Given the description of an element on the screen output the (x, y) to click on. 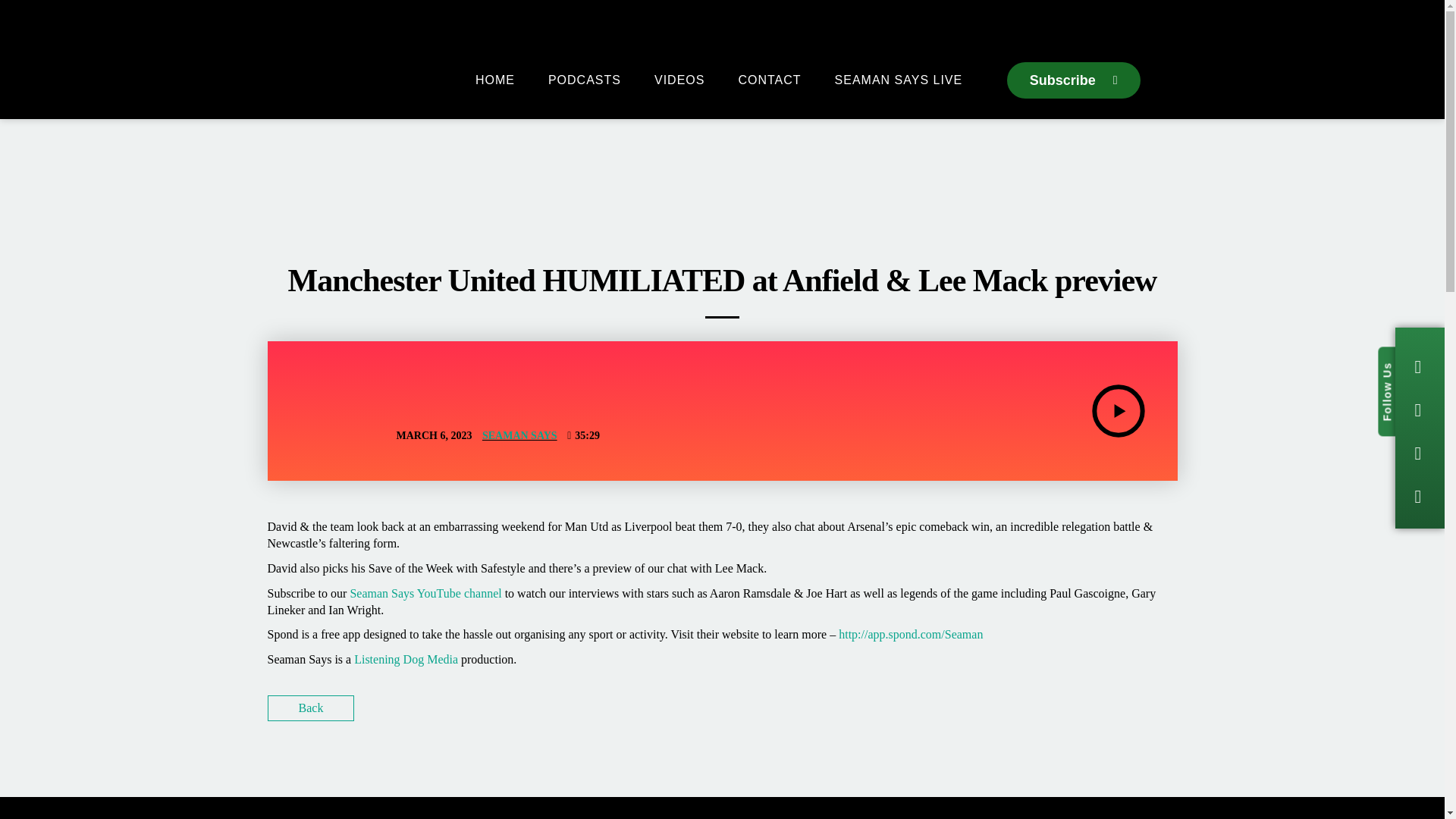
PODCASTS (584, 79)
SEAMAN SAYS LIVE (898, 79)
HOME (495, 79)
VIDEOS (678, 79)
CONTACT (769, 79)
